Given the description of an element on the screen output the (x, y) to click on. 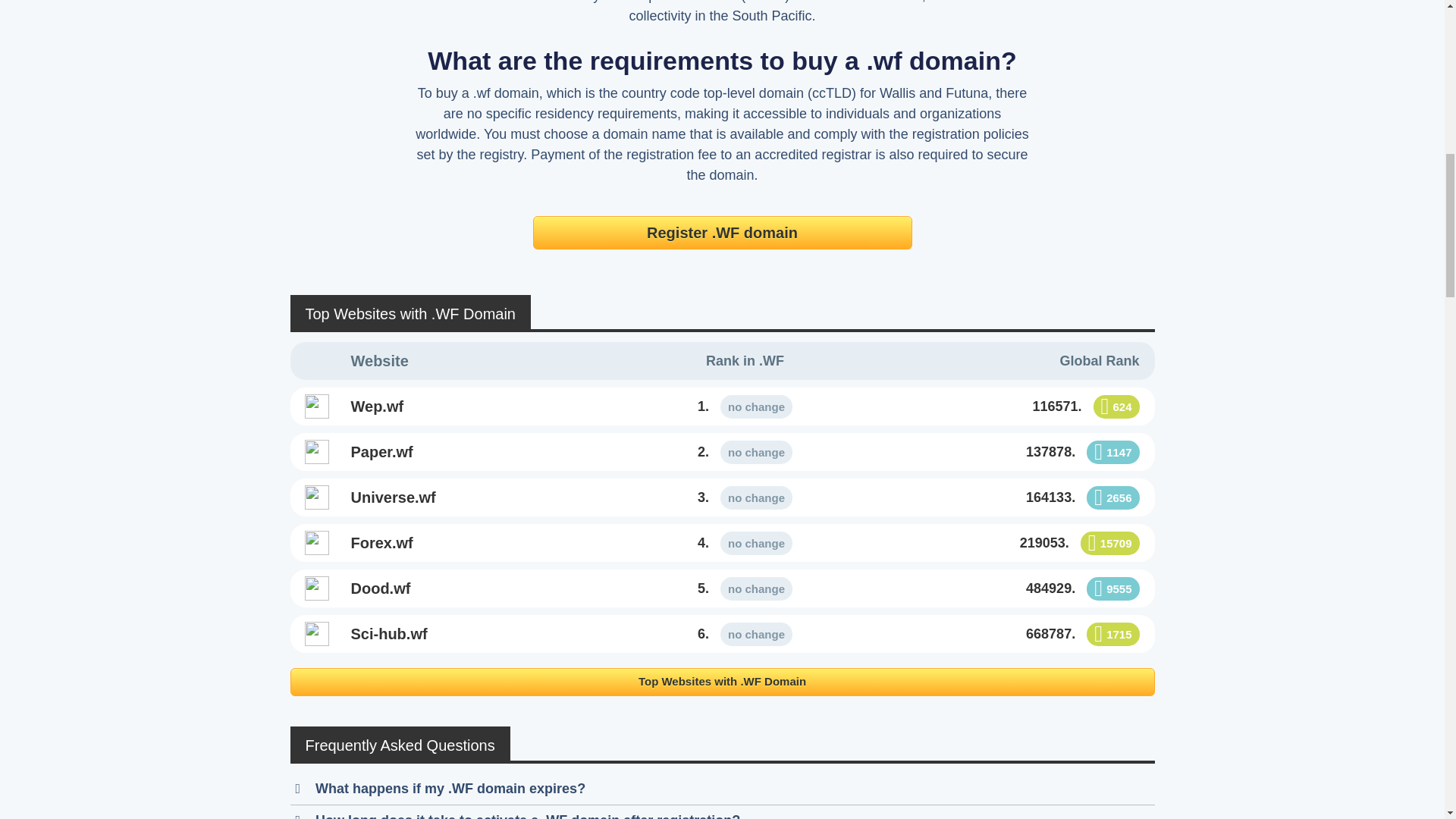
universe.wf ranks number 3. in .WF domain (744, 497)
paper.wf ranks number 137878. Globally (1008, 451)
Gained 624 positions (1116, 406)
universe.wf ranks number 164133. Globally (1008, 497)
paper.wf ranks number 2. in .WF domain (744, 452)
Top Websites with .WF Domain (721, 682)
paper.wf ranks number 2. in .WF domain (481, 451)
Maintained position (756, 452)
Maintained position (756, 497)
Register .WF domain (721, 232)
Dropped 1147 positions (1112, 452)
wep.wf ranks number 1. in .WF domain (481, 405)
universe.wf ranks number 3. in .WF domain (481, 497)
Maintained position (756, 406)
